Given the description of an element on the screen output the (x, y) to click on. 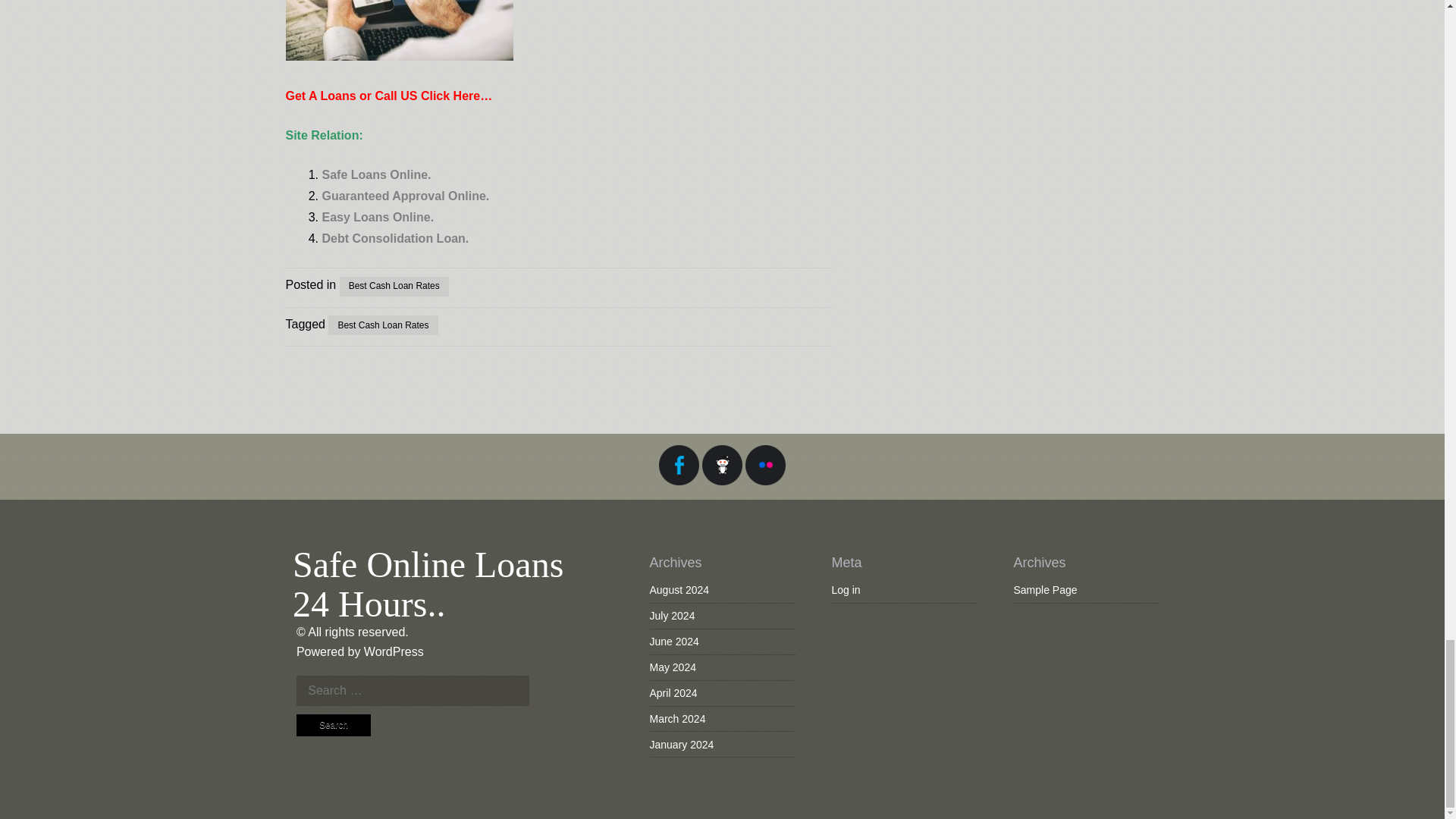
Debt Consolidation Loan. (394, 237)
Search (334, 725)
A Semantic Personal Publishing Platform (393, 651)
Search (334, 725)
Safe Online Loans 24 Hours.. (427, 584)
July 2024 (671, 615)
April 2024 (673, 693)
March 2024 (676, 718)
Guaranteed Approval Online (402, 195)
August 2024 (679, 589)
